Given the description of an element on the screen output the (x, y) to click on. 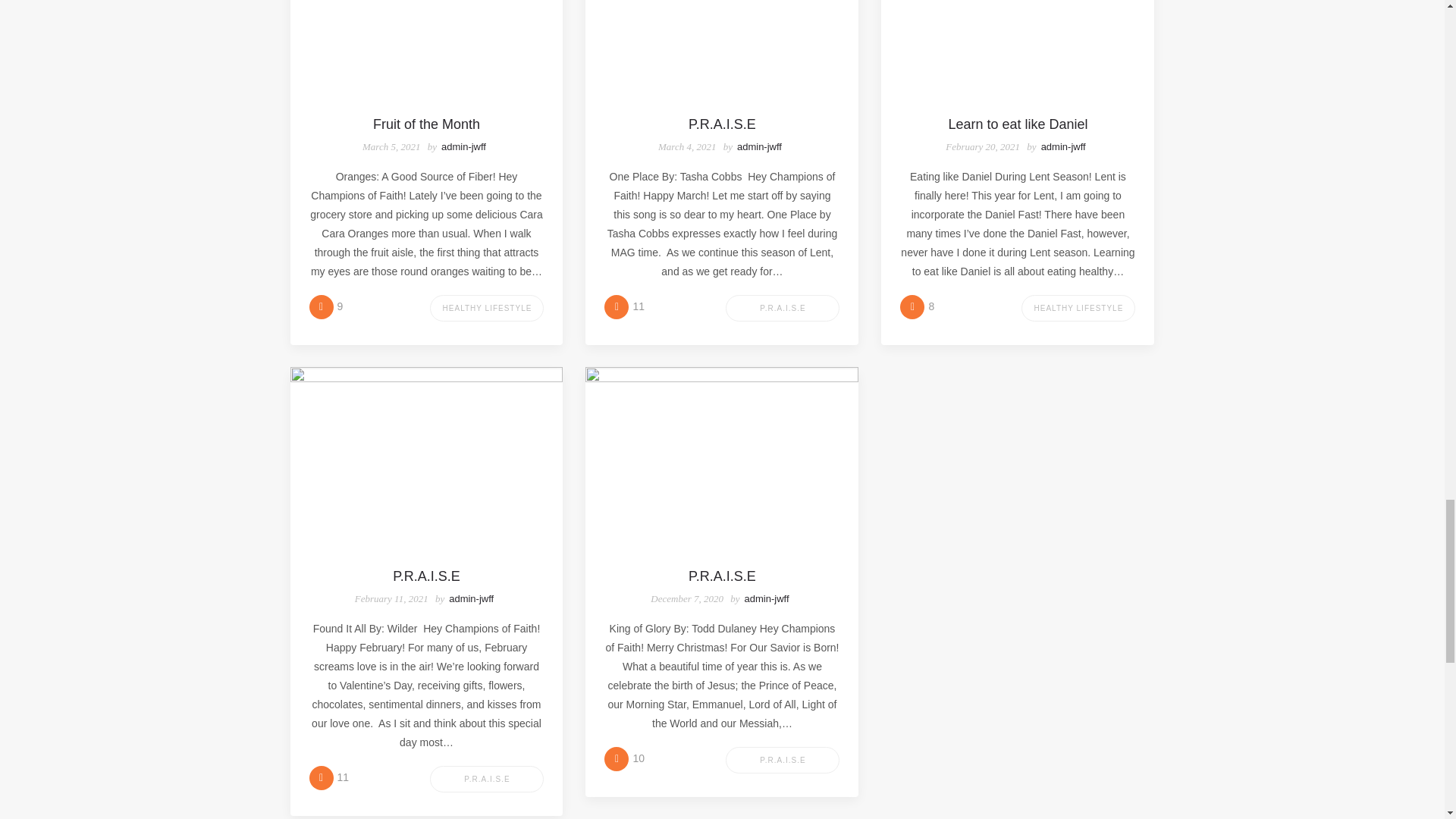
Posts by admin-jwff (766, 598)
Fruit of the Month (426, 124)
9 (325, 306)
HEALTHY LIFESTYLE (486, 307)
Posts by admin-jwff (758, 146)
Posts by admin-jwff (1063, 146)
Posts by admin-jwff (470, 598)
admin-jwff (463, 146)
Posts by admin-jwff (463, 146)
